Given the description of an element on the screen output the (x, y) to click on. 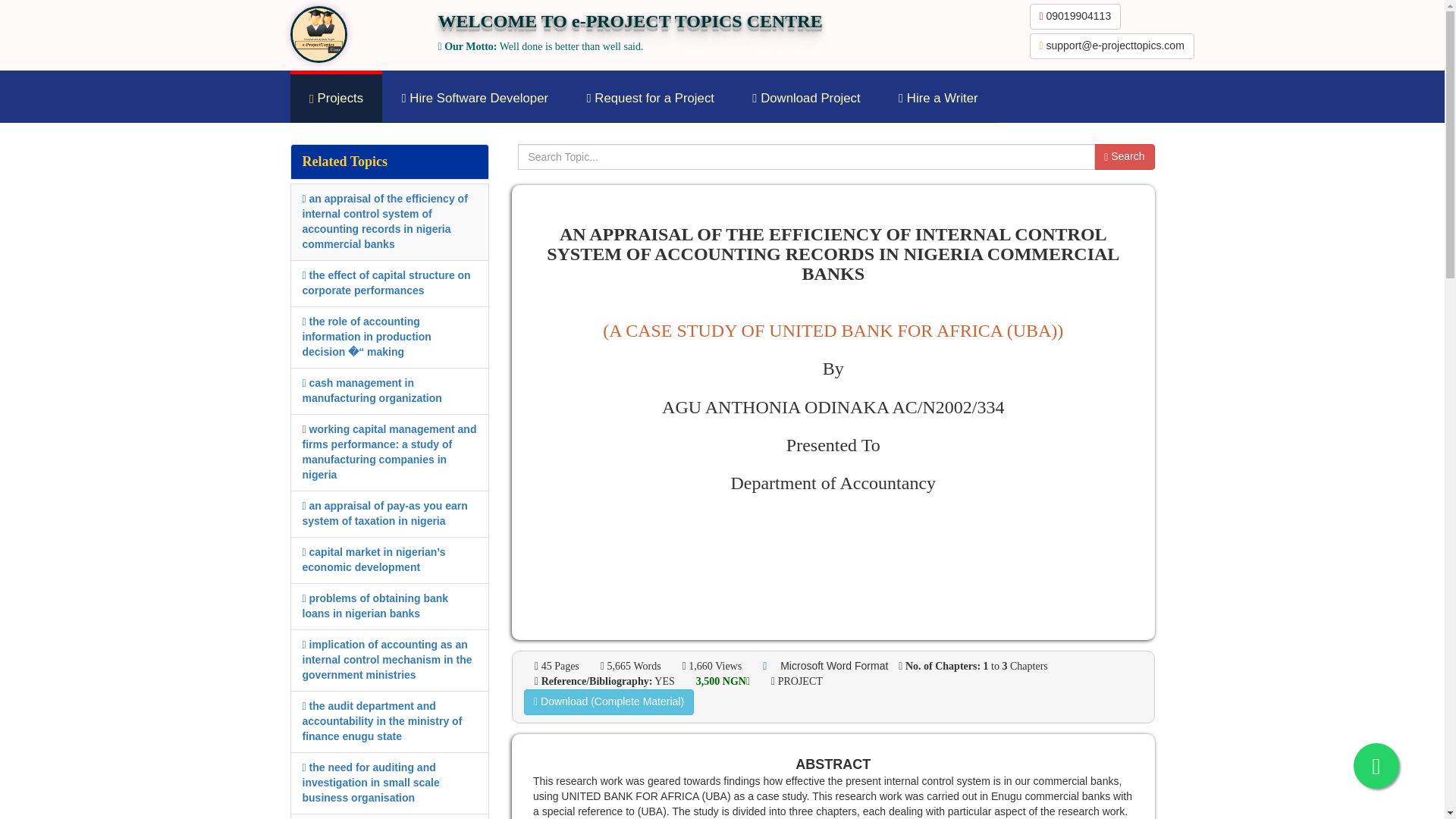
Search (1124, 156)
Request for a Project (650, 98)
09019904113 (1075, 16)
problems of obtaining bank loans in nigerian banks (374, 605)
problems of obtaining bank loans  in nigerian banks (374, 605)
cash management in manufacturing organization (371, 390)
cash management in manufacturing organization (371, 390)
